Given the description of an element on the screen output the (x, y) to click on. 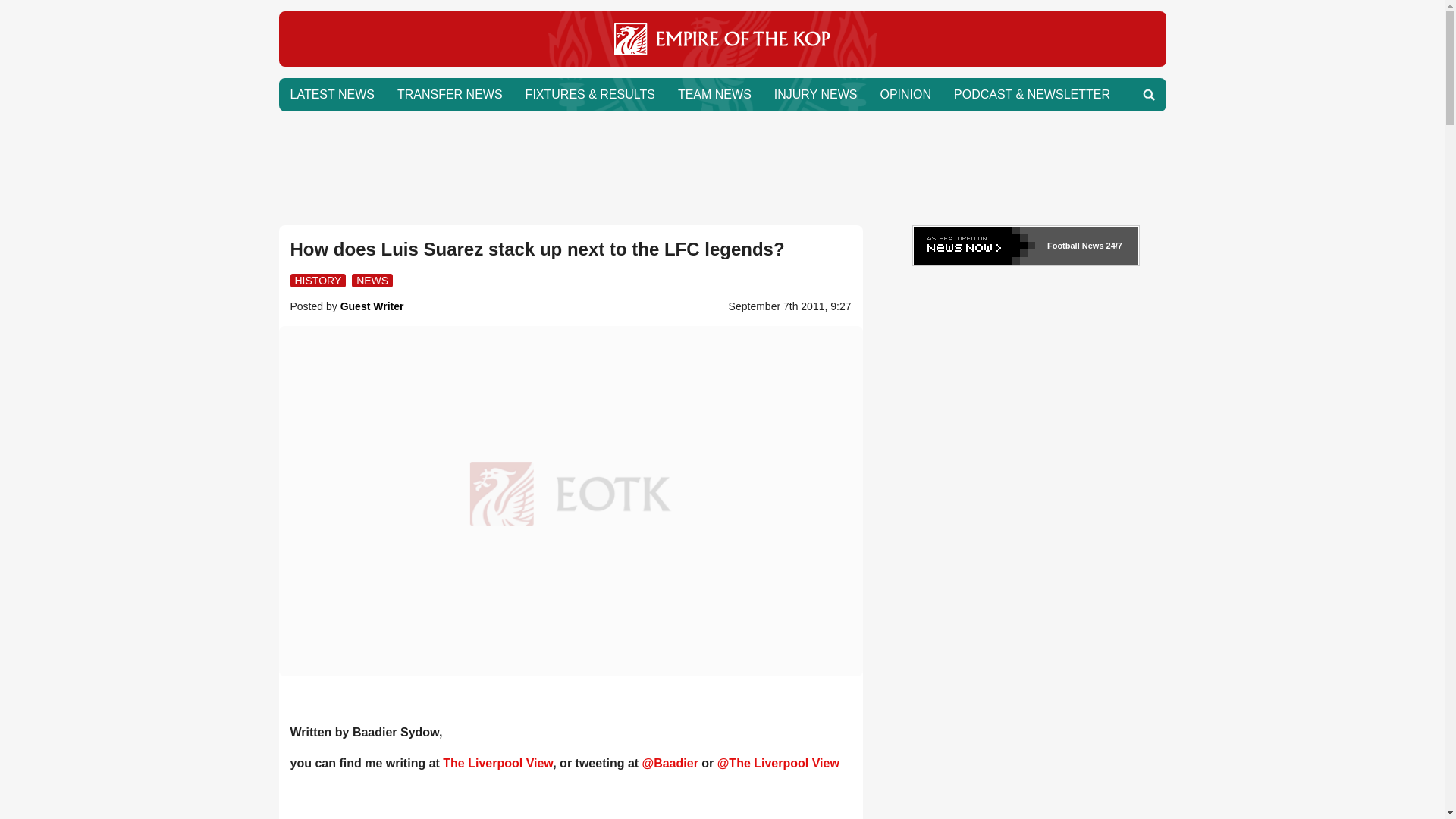
Empire Of The Kop Podcast (1031, 94)
Guest Writer (372, 306)
Liverpool Injury News (815, 94)
INJURY NEWS (815, 94)
LATEST NEWS (332, 94)
The Liverpool View (497, 762)
TRANSFER NEWS (449, 94)
Latest Liverpool News (332, 94)
Search (1147, 94)
OPINION (904, 94)
